Given the description of an element on the screen output the (x, y) to click on. 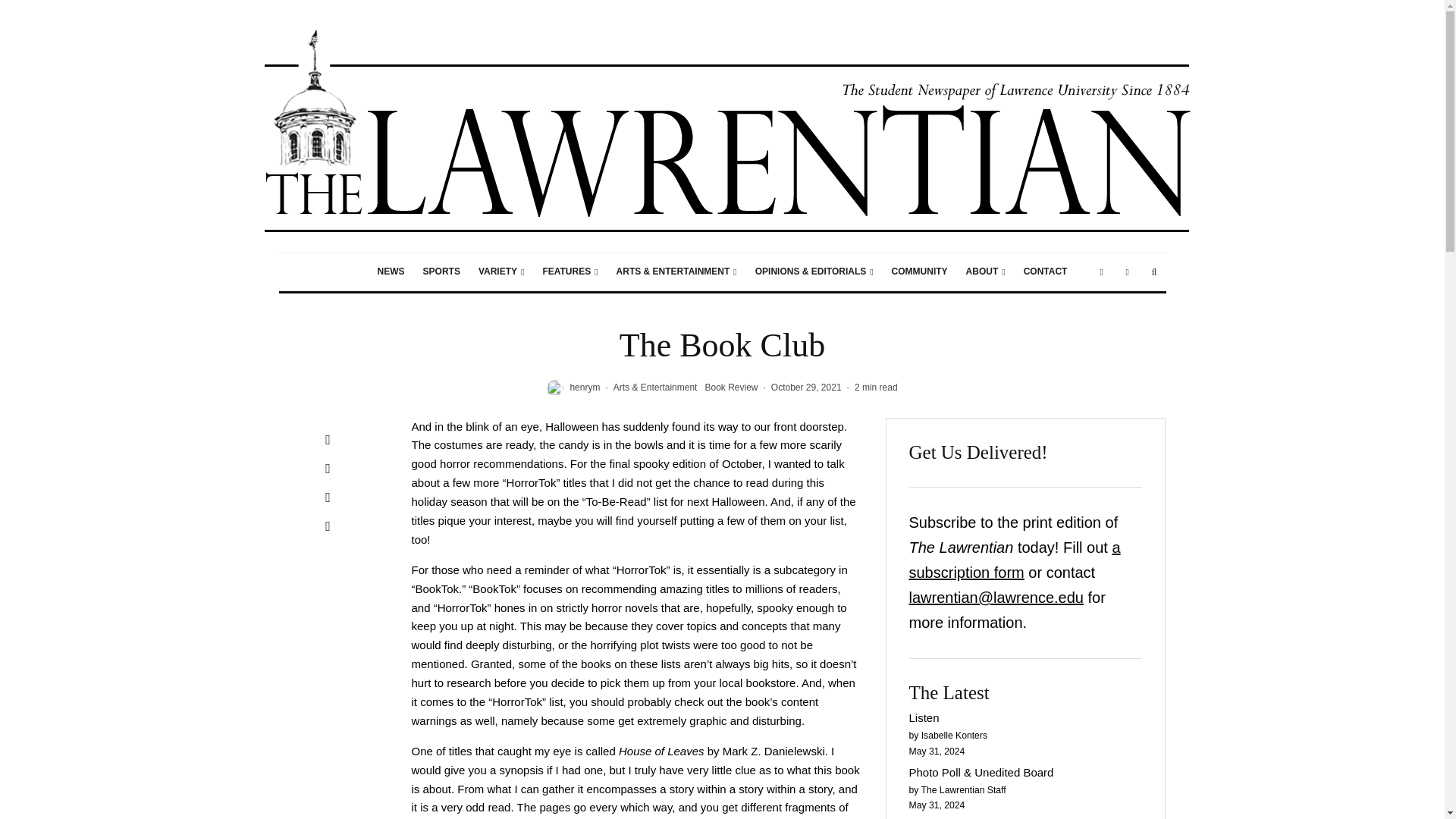
Posts by henrym (584, 387)
SPORTS (440, 272)
FEATURES (569, 272)
VARIETY (501, 272)
NEWS (390, 272)
